Given the description of an element on the screen output the (x, y) to click on. 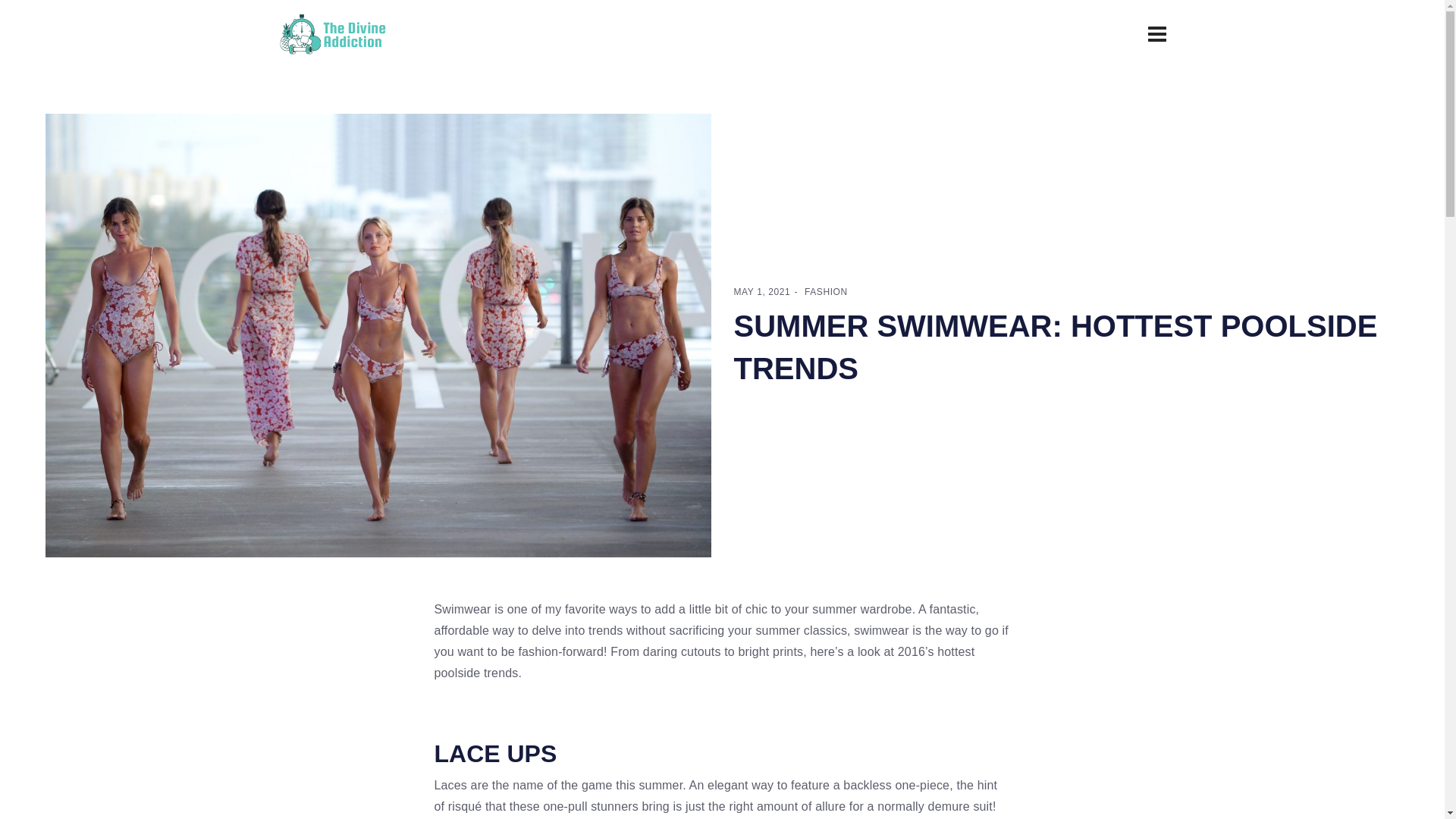
menu (1157, 33)
FASHION (826, 291)
SUMMER SWIMWEAR: HOTTEST POOLSIDE TRENDS (1055, 346)
